Given the description of an element on the screen output the (x, y) to click on. 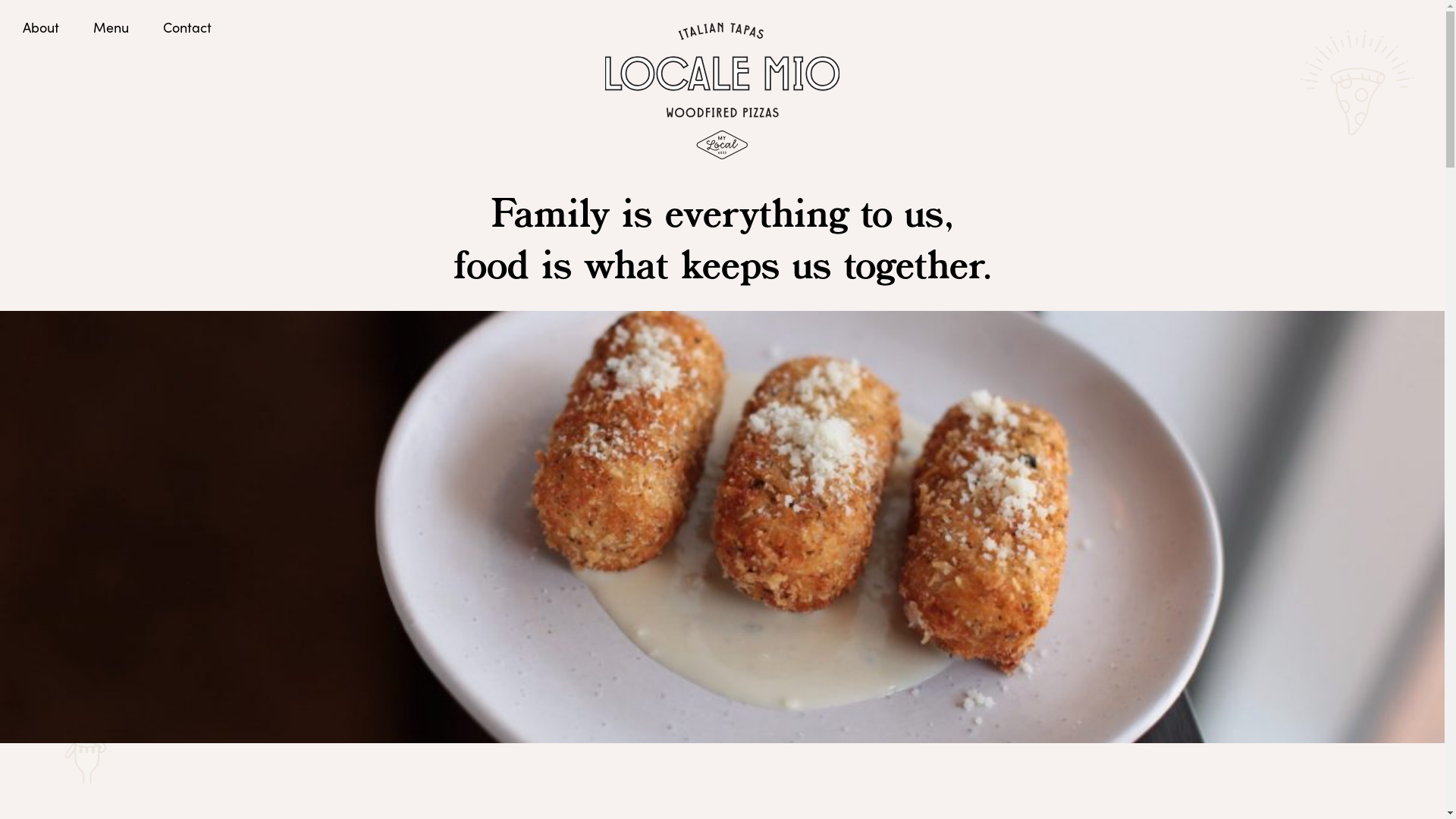
About Element type: text (40, 26)
Croquettes_5012 Element type: hover (722, 526)
Contact Element type: text (187, 26)
Menu Element type: text (110, 26)
Locale Mio Element type: hover (722, 91)
